Given the description of an element on the screen output the (x, y) to click on. 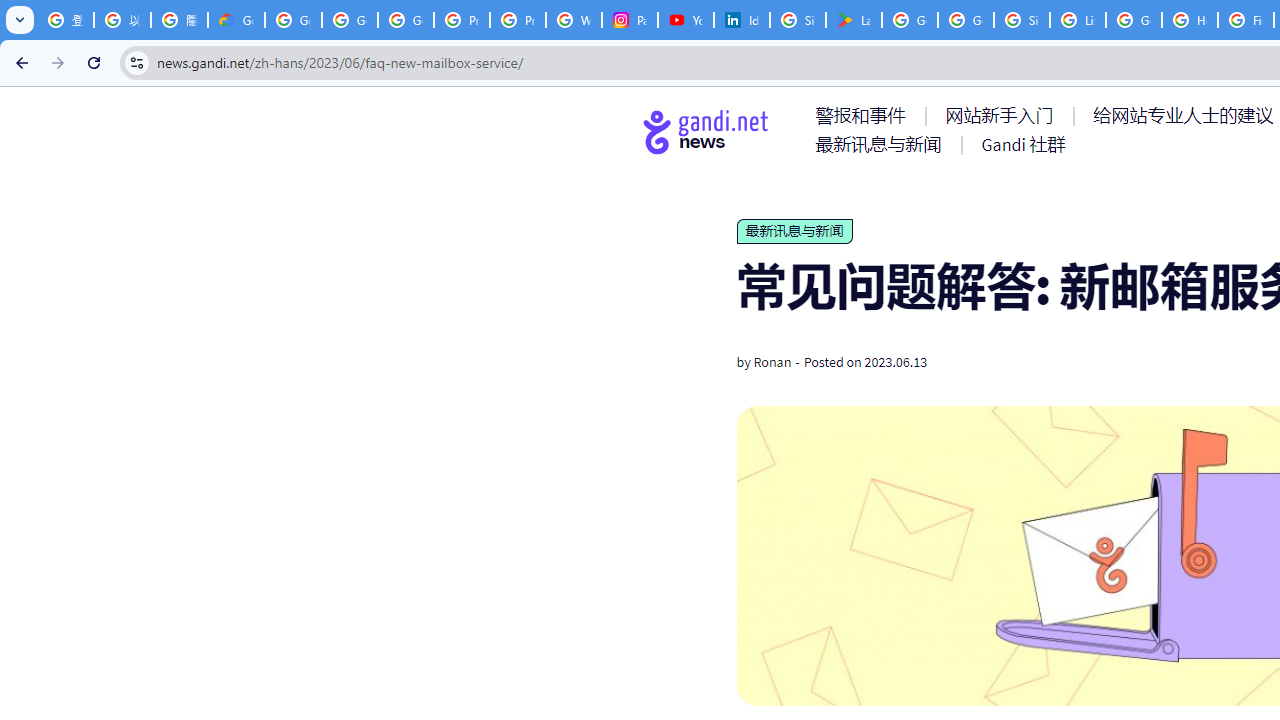
Sign in - Google Accounts (1021, 20)
Last Shelter: Survival - Apps on Google Play (853, 20)
Sign in - Google Accounts (797, 20)
